Given the description of an element on the screen output the (x, y) to click on. 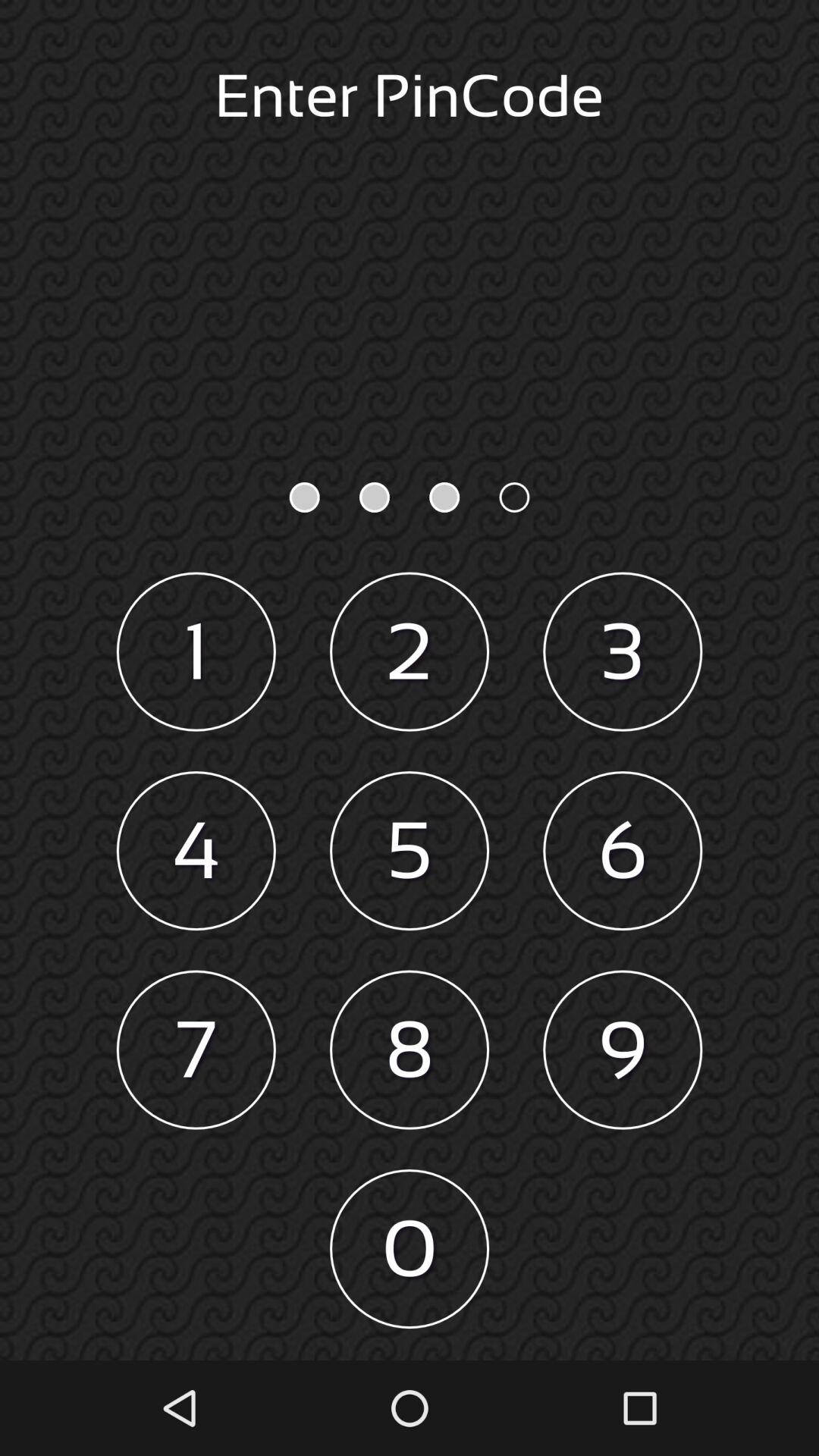
launch icon next to the 8 item (622, 1049)
